Given the description of an element on the screen output the (x, y) to click on. 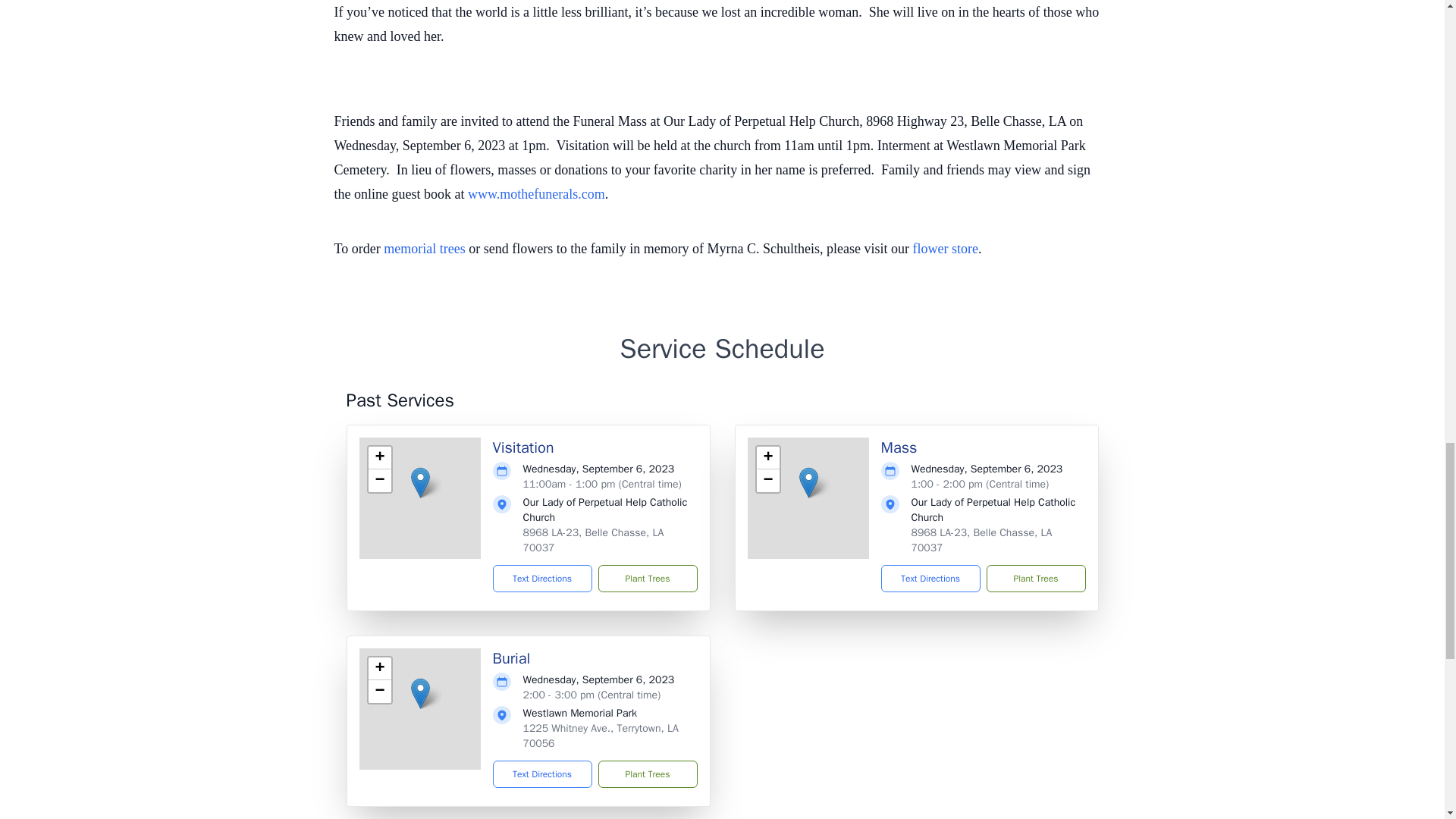
memorial trees (424, 248)
Zoom in (379, 668)
8968 LA-23, Belle Chasse, LA 70037 (592, 540)
Zoom in (379, 457)
www.mothefunerals.com (536, 193)
Zoom in (767, 457)
Zoom out (767, 480)
1225 Whitney Ave., Terrytown, LA 70056 (600, 735)
flower store (945, 248)
Zoom out (379, 480)
Text Directions (542, 578)
Zoom out (379, 691)
Plant Trees (1034, 578)
Text Directions (929, 578)
8968 LA-23, Belle Chasse, LA 70037 (981, 540)
